Given the description of an element on the screen output the (x, y) to click on. 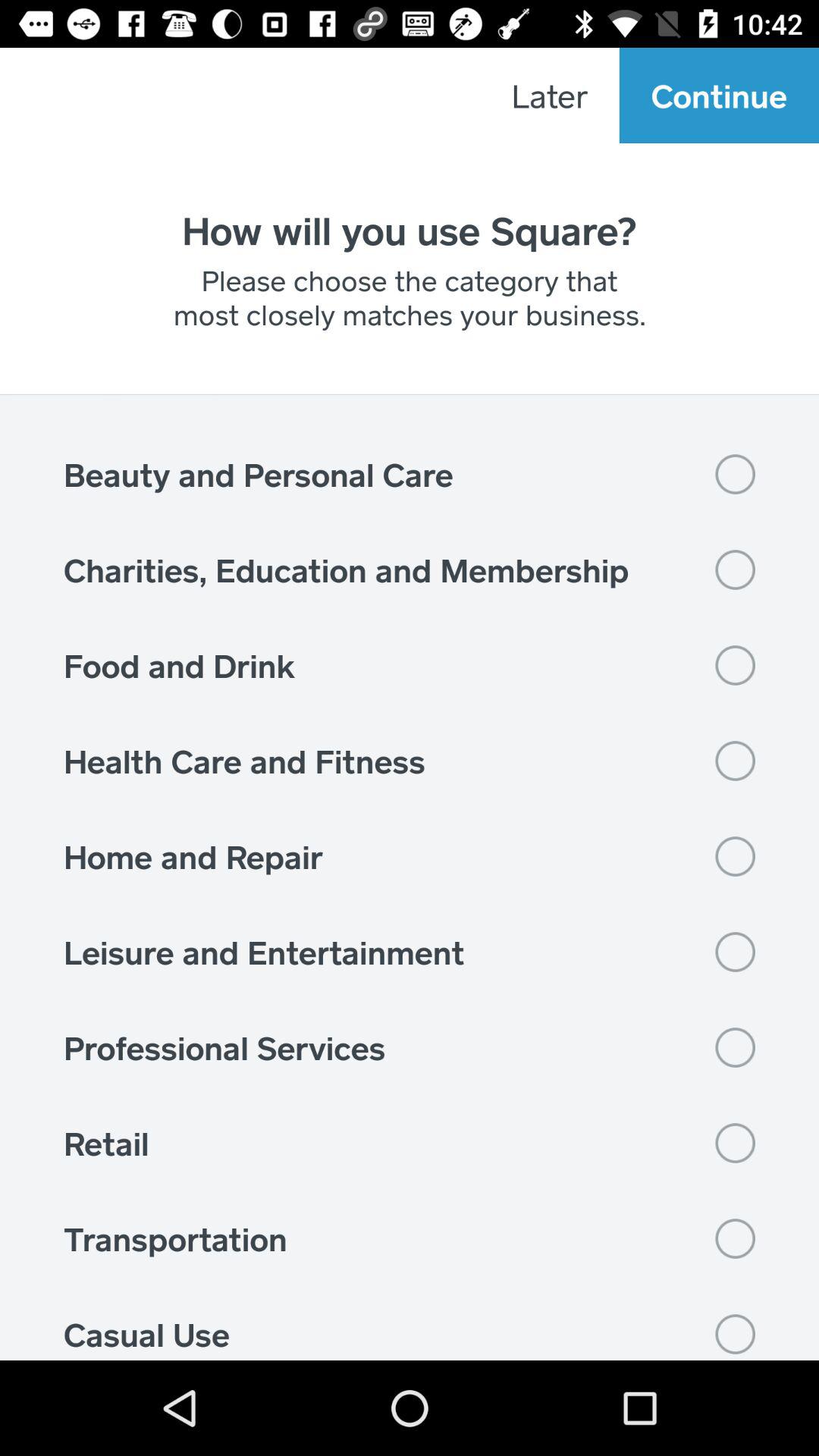
open icon below home and repair item (409, 951)
